Given the description of an element on the screen output the (x, y) to click on. 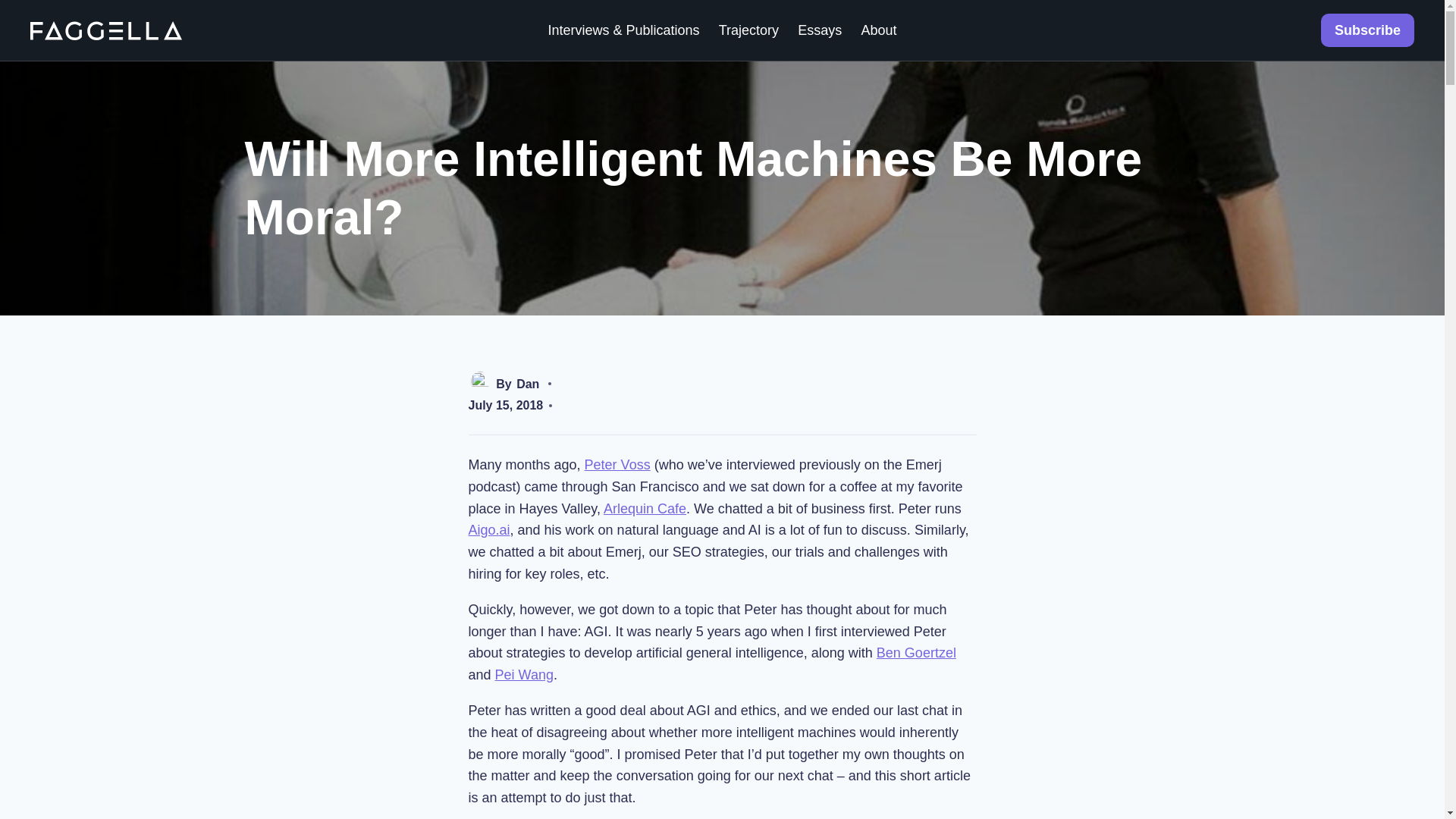
Pei Wang (524, 674)
Arlequin Cafe (644, 508)
Essays (820, 30)
Aigo.ai (489, 529)
Dan (527, 383)
Peter Voss (617, 464)
Ben Goertzel (916, 652)
About (878, 30)
Trajectory (749, 30)
Subscribe (1366, 29)
